Given the description of an element on the screen output the (x, y) to click on. 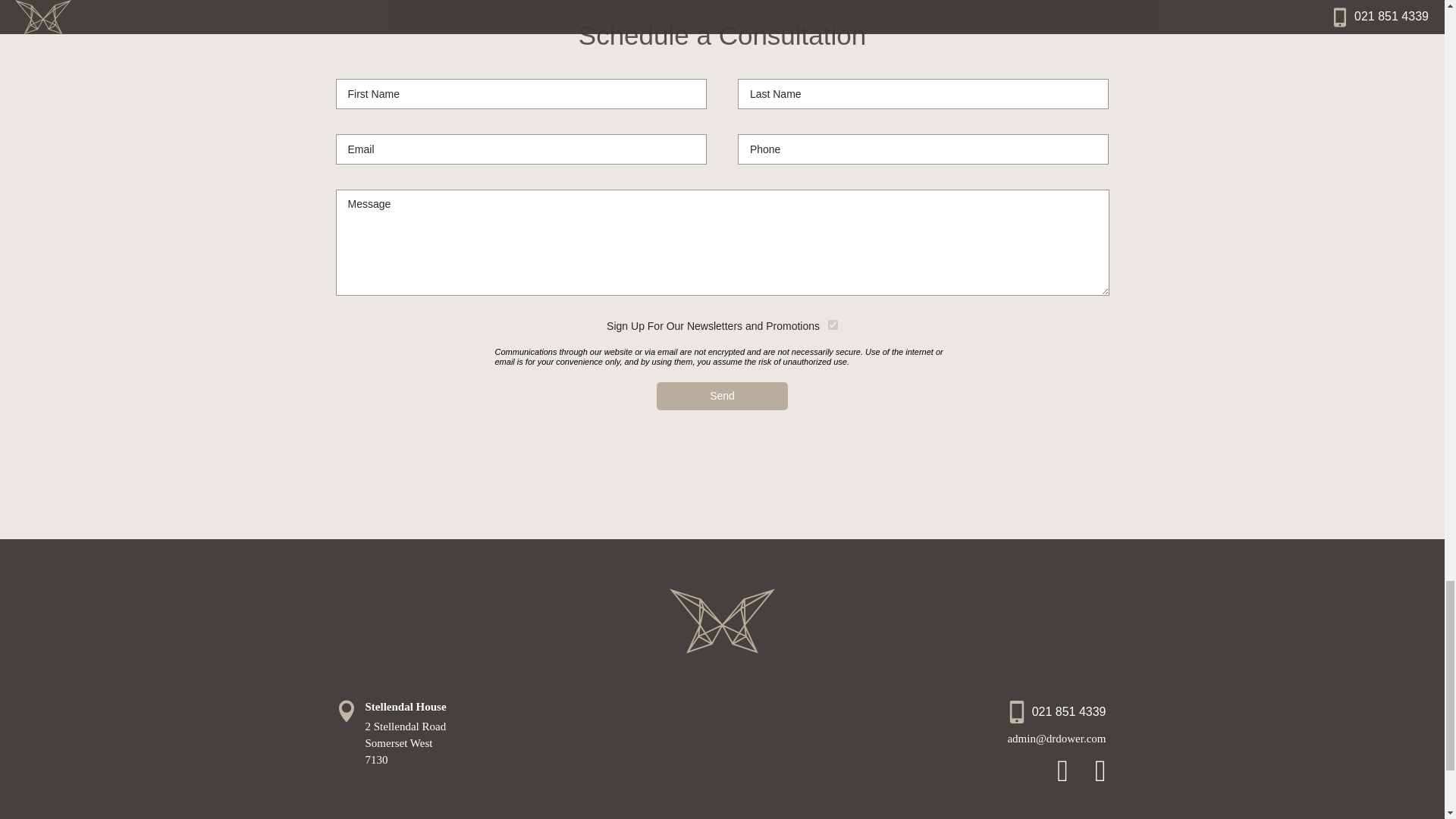
true (833, 325)
Send (721, 396)
